Given the description of an element on the screen output the (x, y) to click on. 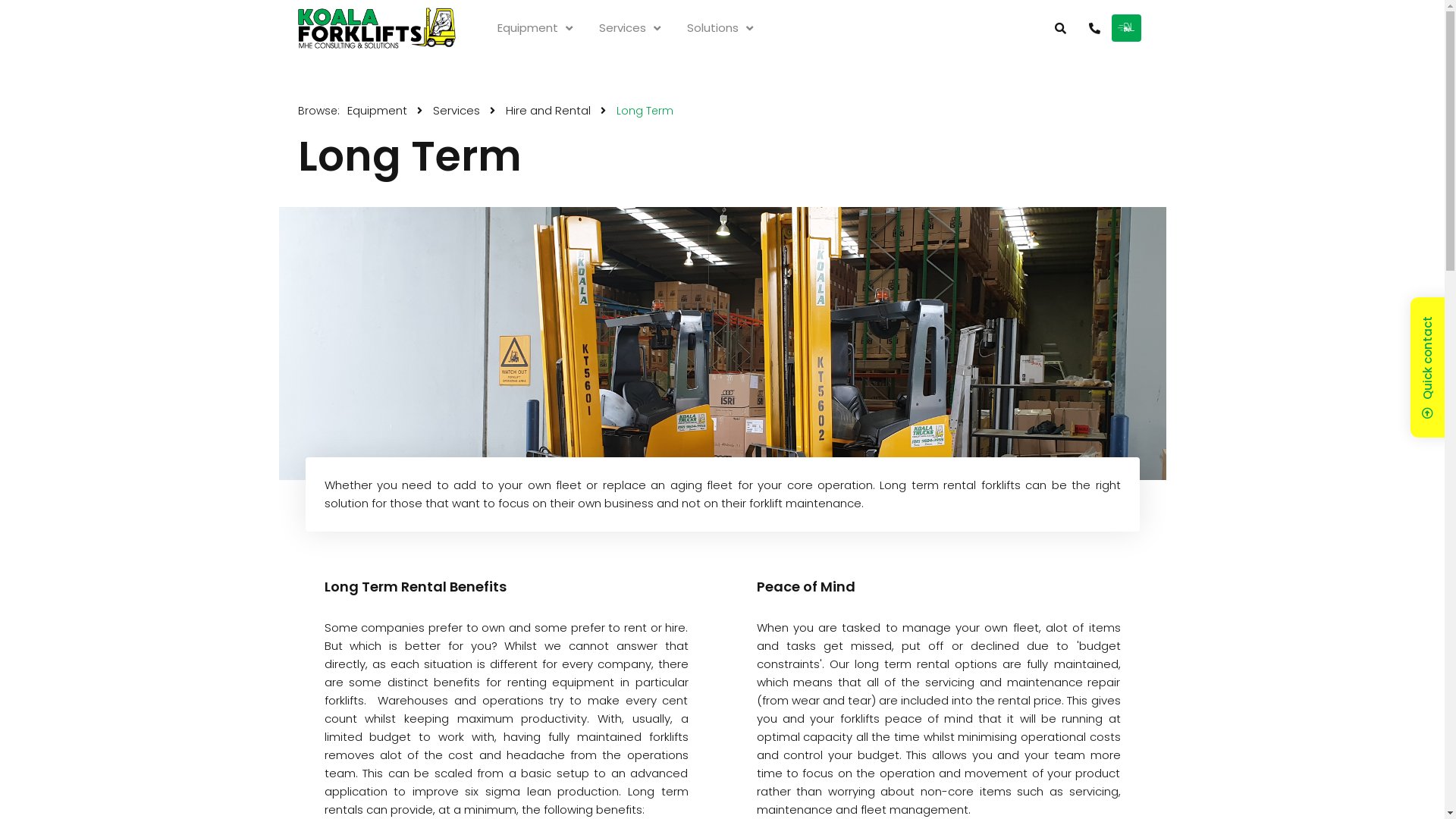
Equipment Element type: text (376, 110)
Services Element type: text (629, 27)
Solutions Element type: text (719, 27)
Equipment Element type: text (534, 27)
Hire and Rental Element type: text (548, 110)
Services Element type: text (456, 110)
